Given the description of an element on the screen output the (x, y) to click on. 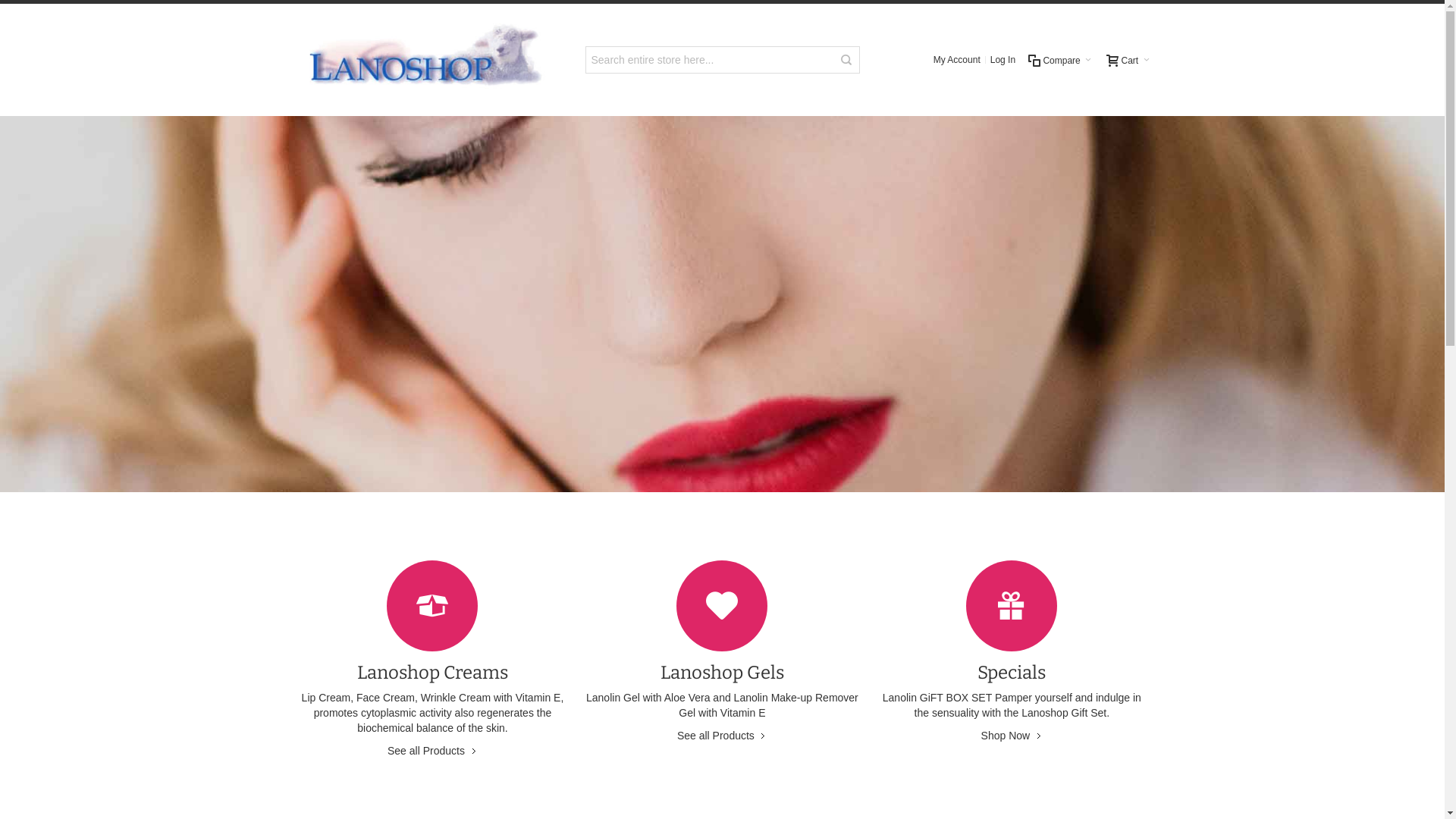
My Account Element type: text (956, 59)
Lanoshop Element type: hover (424, 59)
Log In Element type: text (1002, 59)
See all Products Element type: text (722, 735)
Shop Now Element type: text (1012, 735)
Cart Element type: text (1127, 59)
Search Element type: hover (845, 59)
See all Products Element type: text (432, 750)
